Given the description of an element on the screen output the (x, y) to click on. 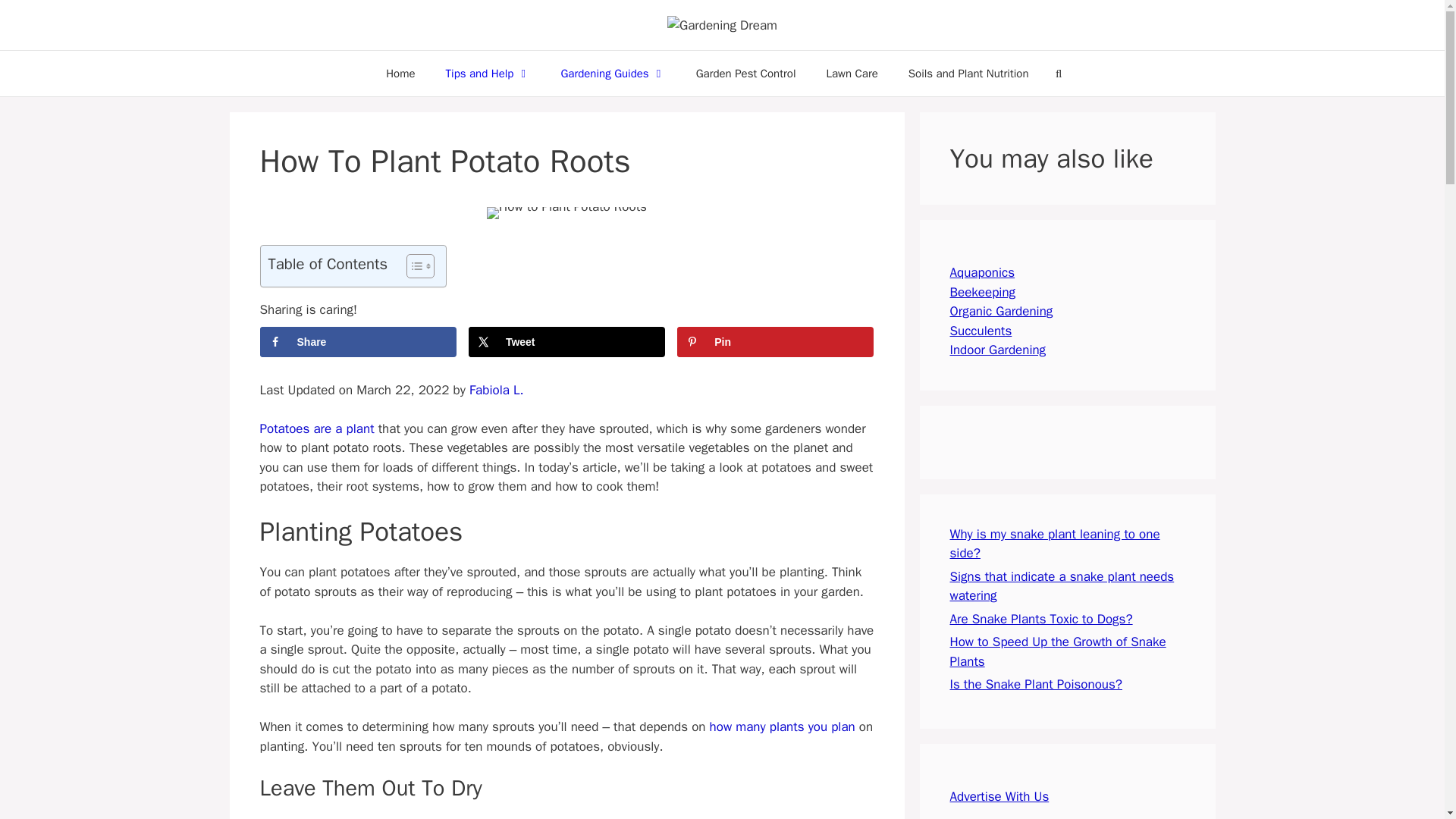
Lawn Care (851, 73)
How To Plant Potato Roots 1 (566, 213)
Soils and Plant Nutrition (968, 73)
Tweet (566, 341)
Share on Facebook (357, 341)
Garden Pest Control (745, 73)
Share (357, 341)
Home (400, 73)
Gardening Guides (611, 73)
Tips and Help (488, 73)
